Given the description of an element on the screen output the (x, y) to click on. 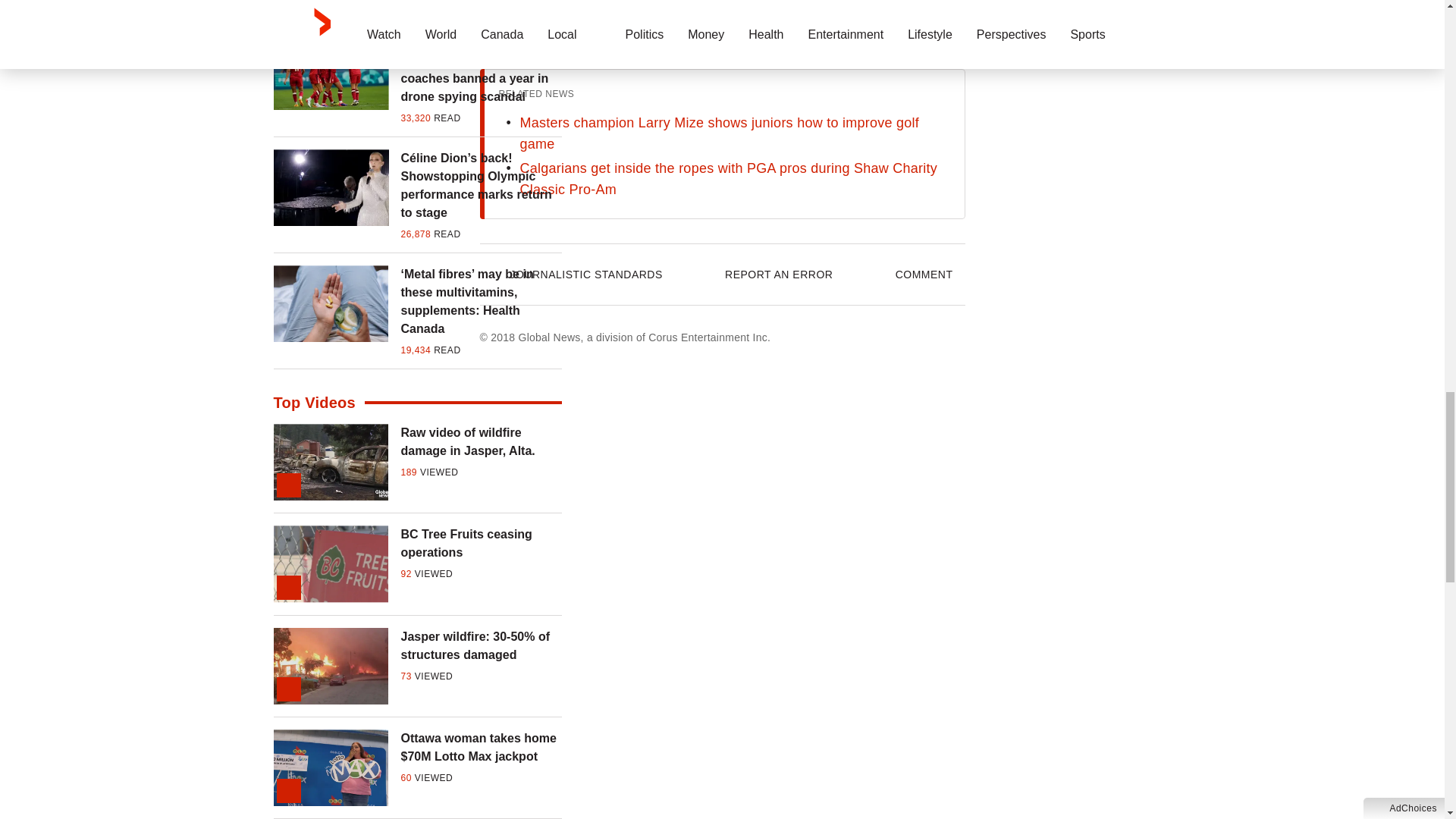
BC Tree Fruits ceasing operations (480, 543)
Raw video of wildfire damage in Jasper, Alta. (480, 442)
